Given the description of an element on the screen output the (x, y) to click on. 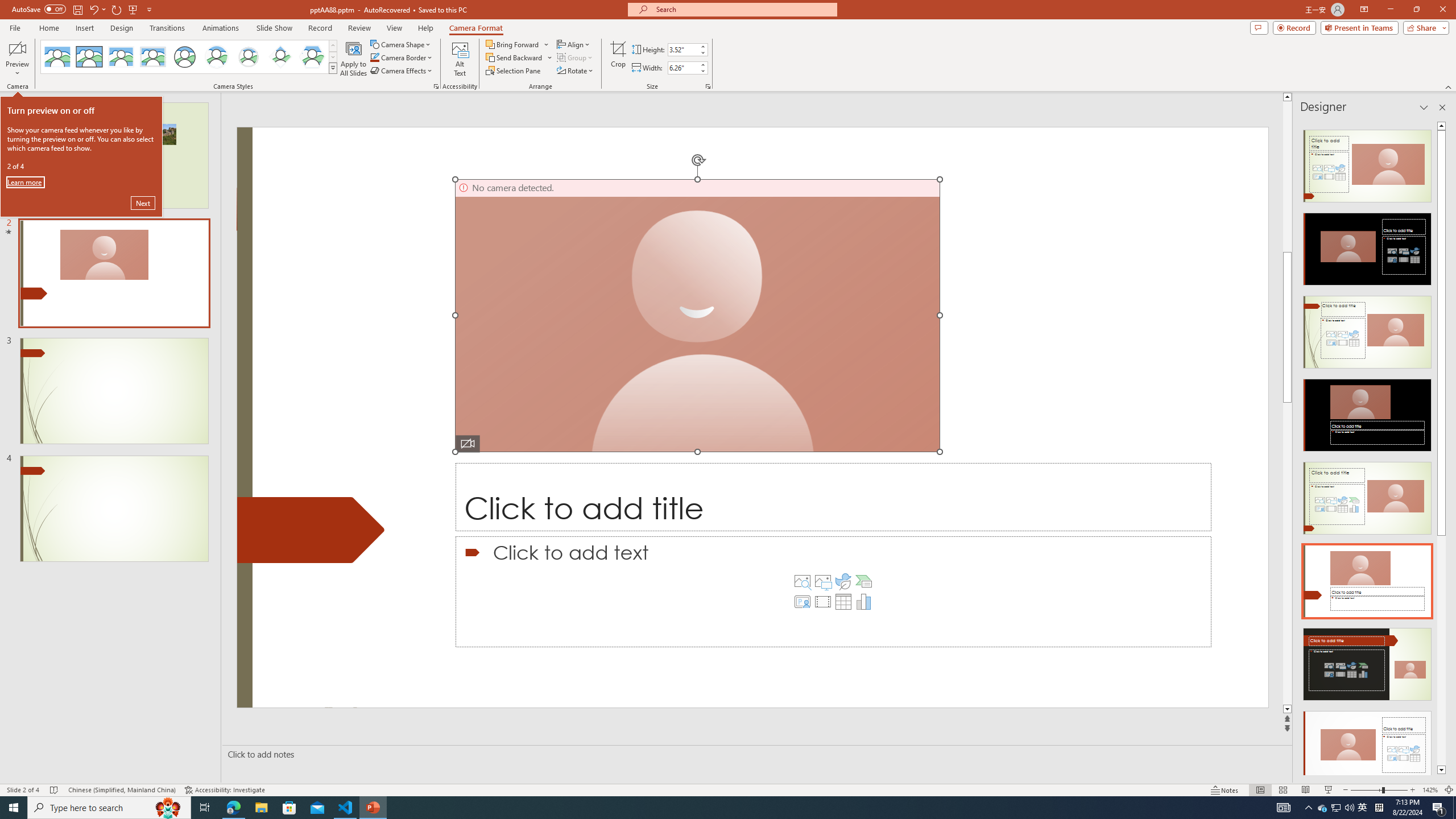
Bring Forward (513, 44)
Rotate (575, 69)
Insert Video (822, 601)
Center Shadow Rectangle (120, 56)
No Style (57, 56)
